Given the description of an element on the screen output the (x, y) to click on. 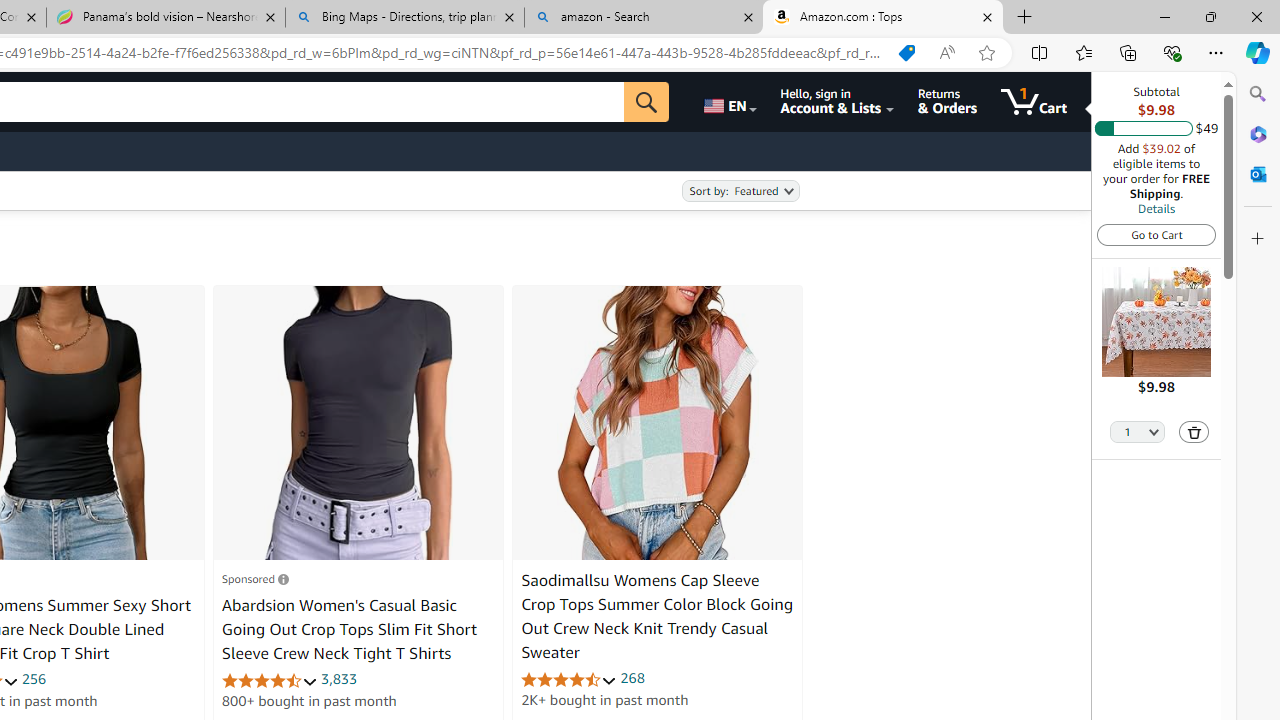
Sort by: (740, 191)
4.4 out of 5 stars (569, 678)
Returns & Orders (946, 101)
Go (646, 101)
Details (1156, 208)
